Given the description of an element on the screen output the (x, y) to click on. 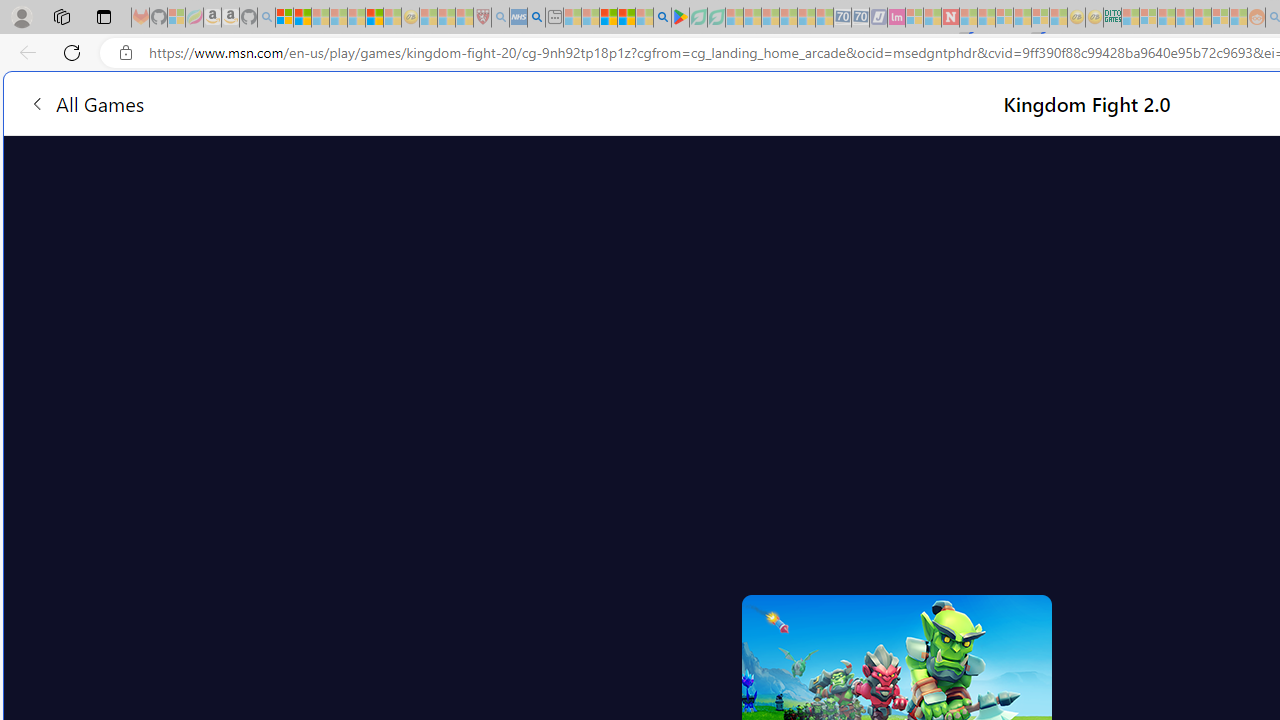
Bluey: Let's Play! - Apps on Google Play (680, 17)
All Games (86, 102)
